Given the description of an element on the screen output the (x, y) to click on. 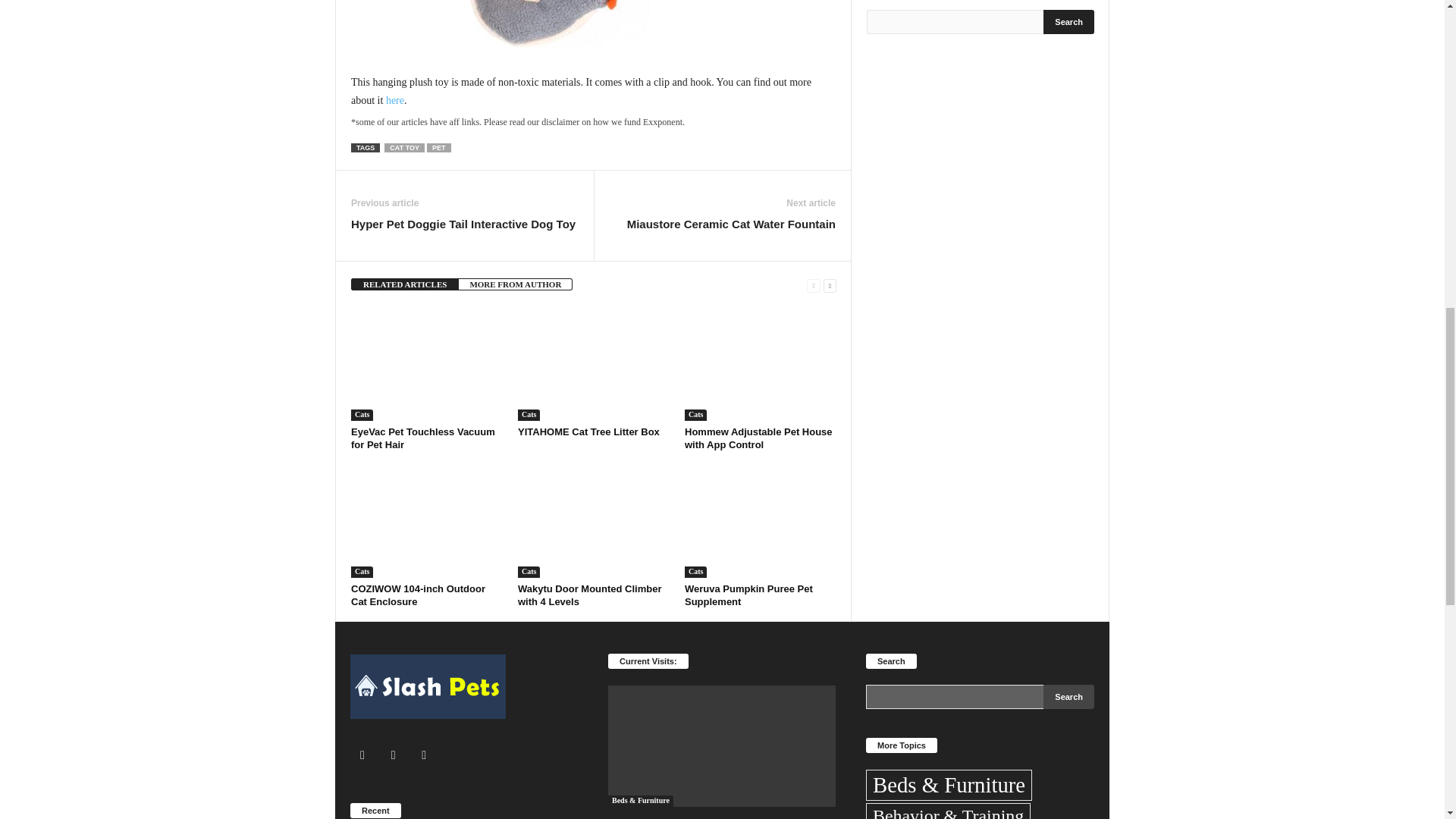
Search (1068, 696)
Search (1068, 21)
